Given the description of an element on the screen output the (x, y) to click on. 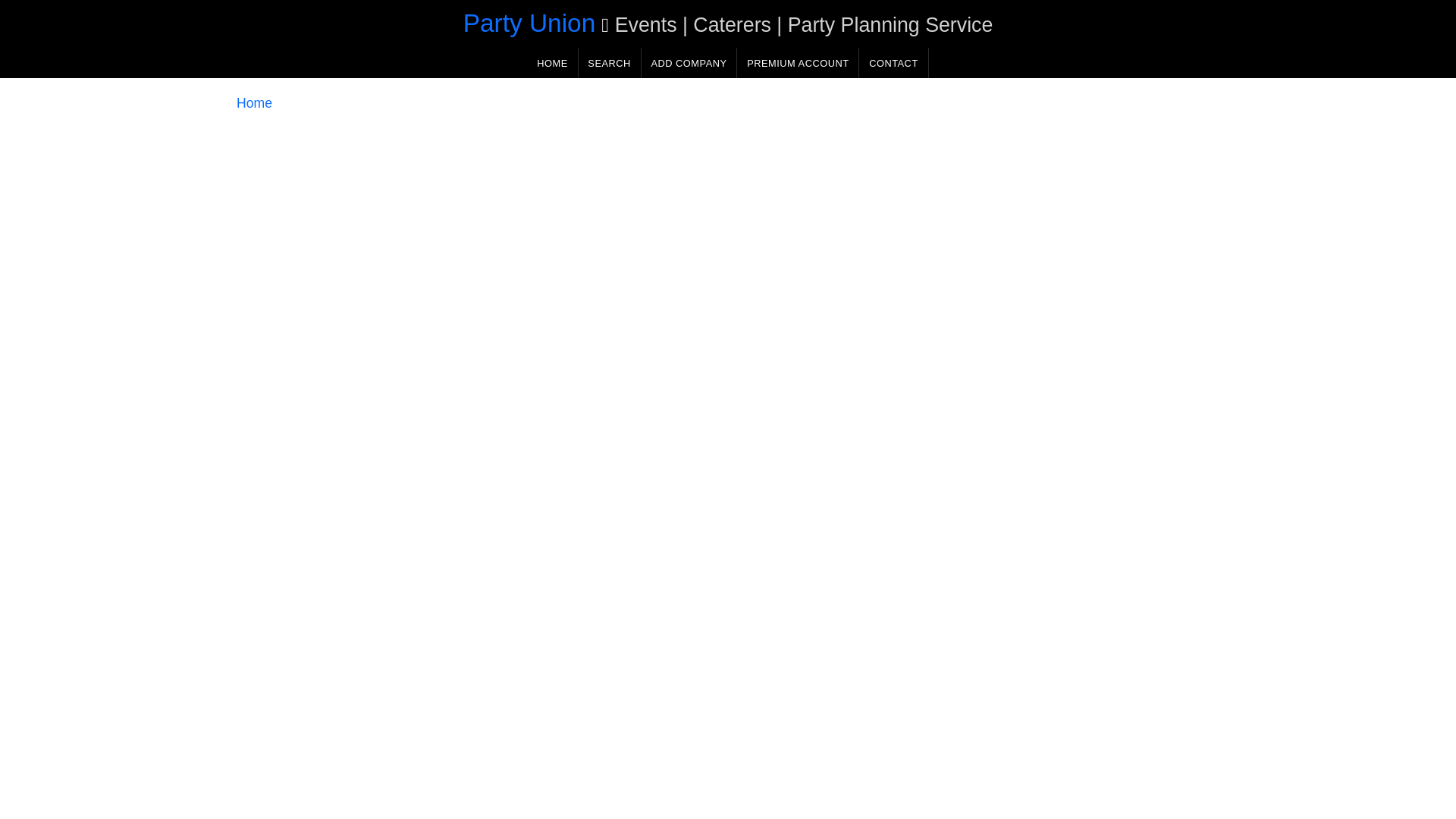
ADD COMPANY (689, 62)
Search in this webseite. (609, 62)
CONTACT (893, 62)
Party Union (529, 22)
Premium account (797, 62)
Home (253, 102)
HOME (551, 62)
PREMIUM ACCOUNT (797, 62)
Add a new company (689, 62)
SEARCH (609, 62)
